Given the description of an element on the screen output the (x, y) to click on. 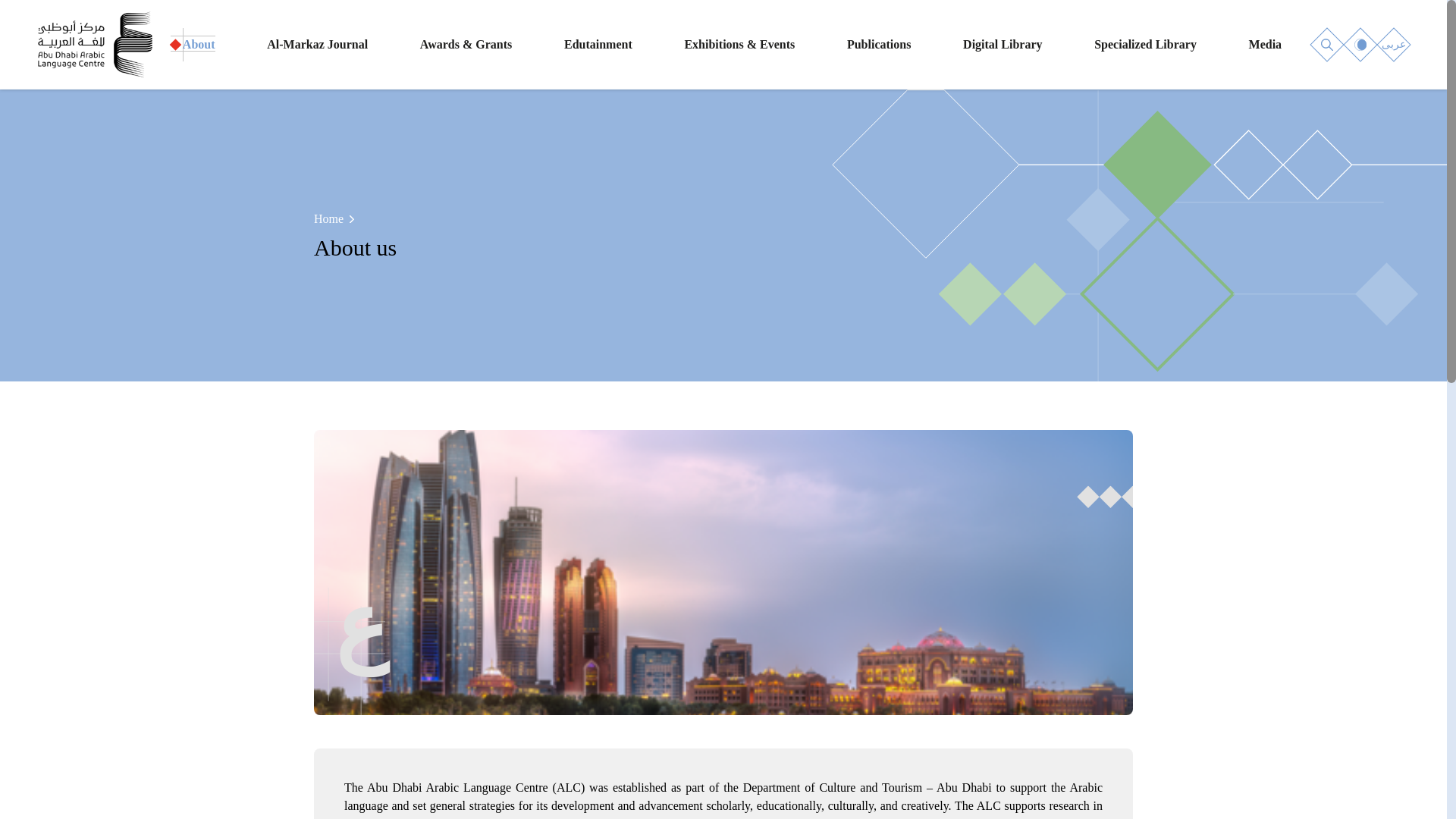
Al-Markaz Journal (317, 43)
